Given the description of an element on the screen output the (x, y) to click on. 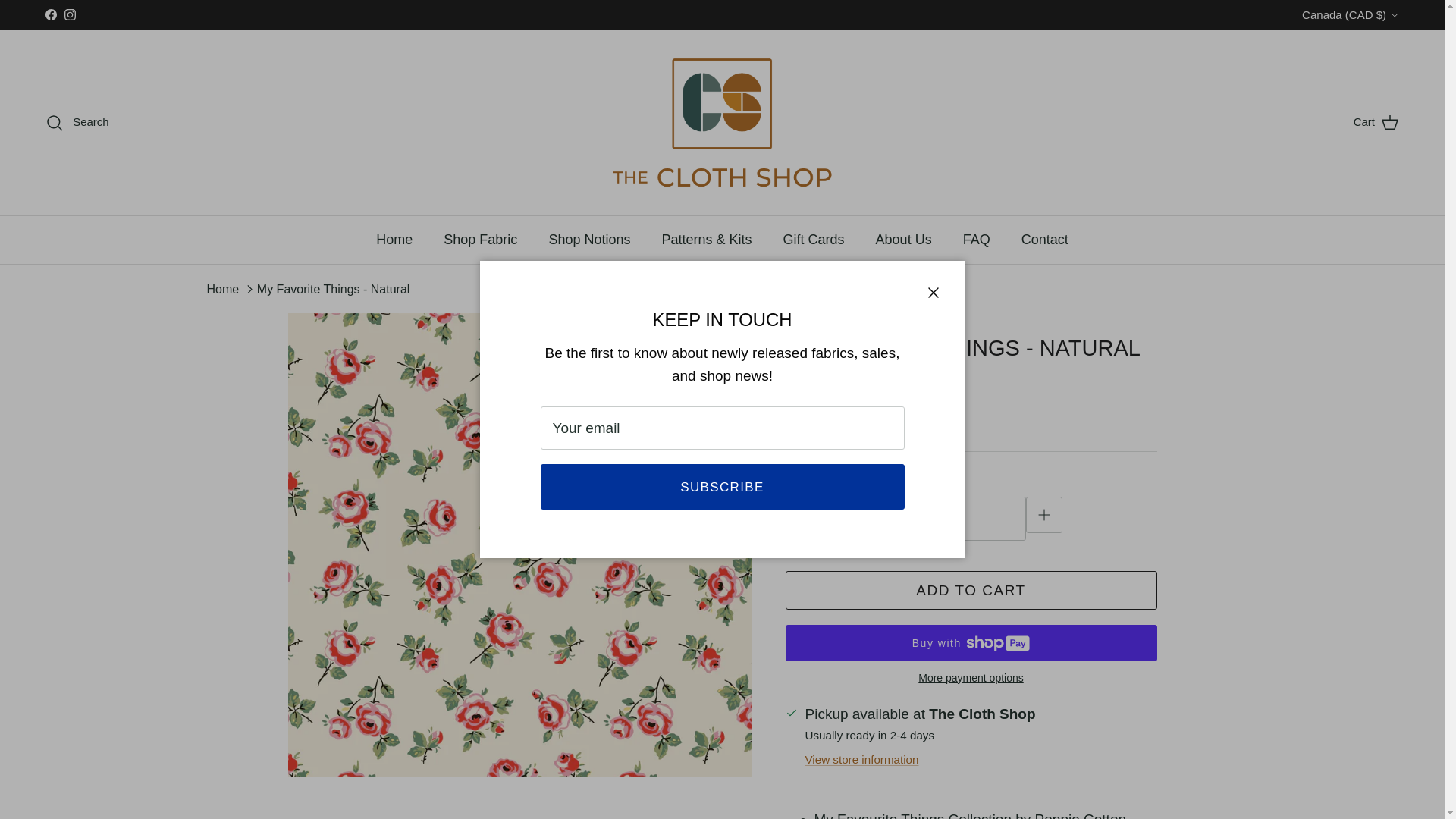
Home (394, 239)
0.5 (924, 517)
Search (77, 122)
The Cloth Shop on Facebook (50, 14)
The Cloth Shop on Instagram (69, 14)
The Cloth Shop (721, 122)
Facebook (50, 14)
Instagram (69, 14)
Cart (1376, 122)
Shop Fabric (480, 239)
